Given the description of an element on the screen output the (x, y) to click on. 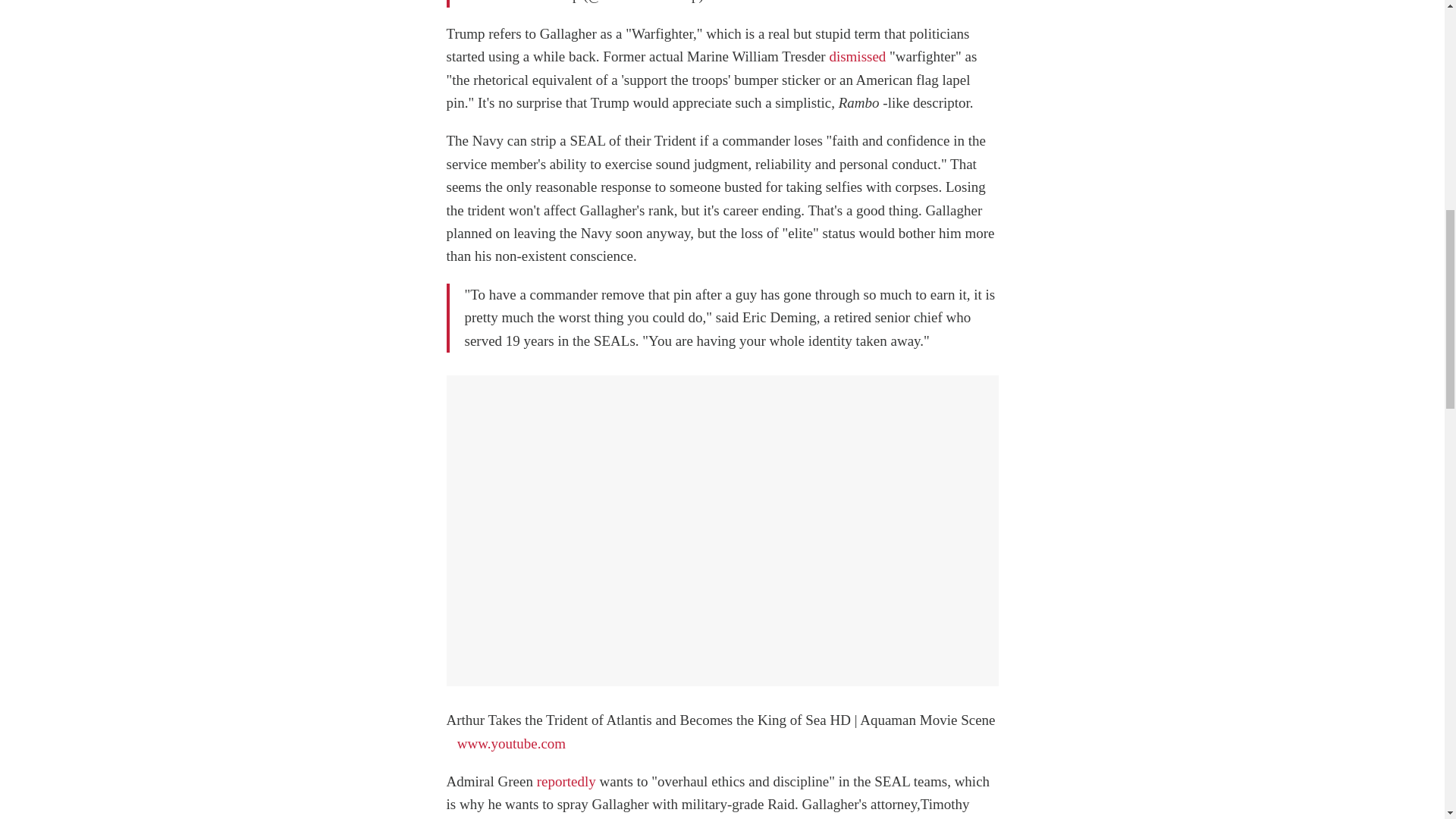
1574343021.0 (747, 1)
www.youtube.com (511, 743)
reportedly (566, 781)
dismissed (856, 56)
